Given the description of an element on the screen output the (x, y) to click on. 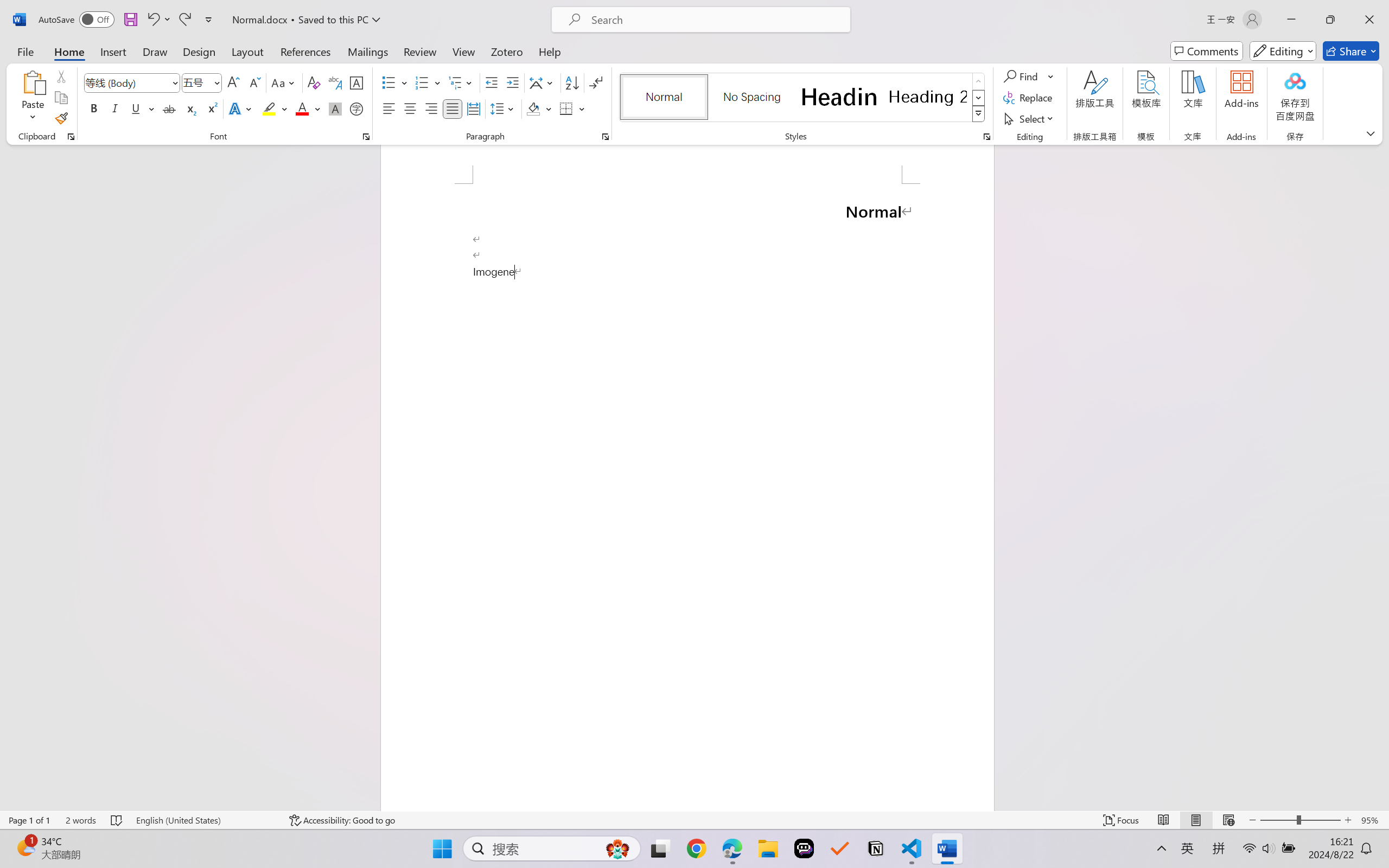
Sort... (571, 82)
Increase Indent (512, 82)
